Given the description of an element on the screen output the (x, y) to click on. 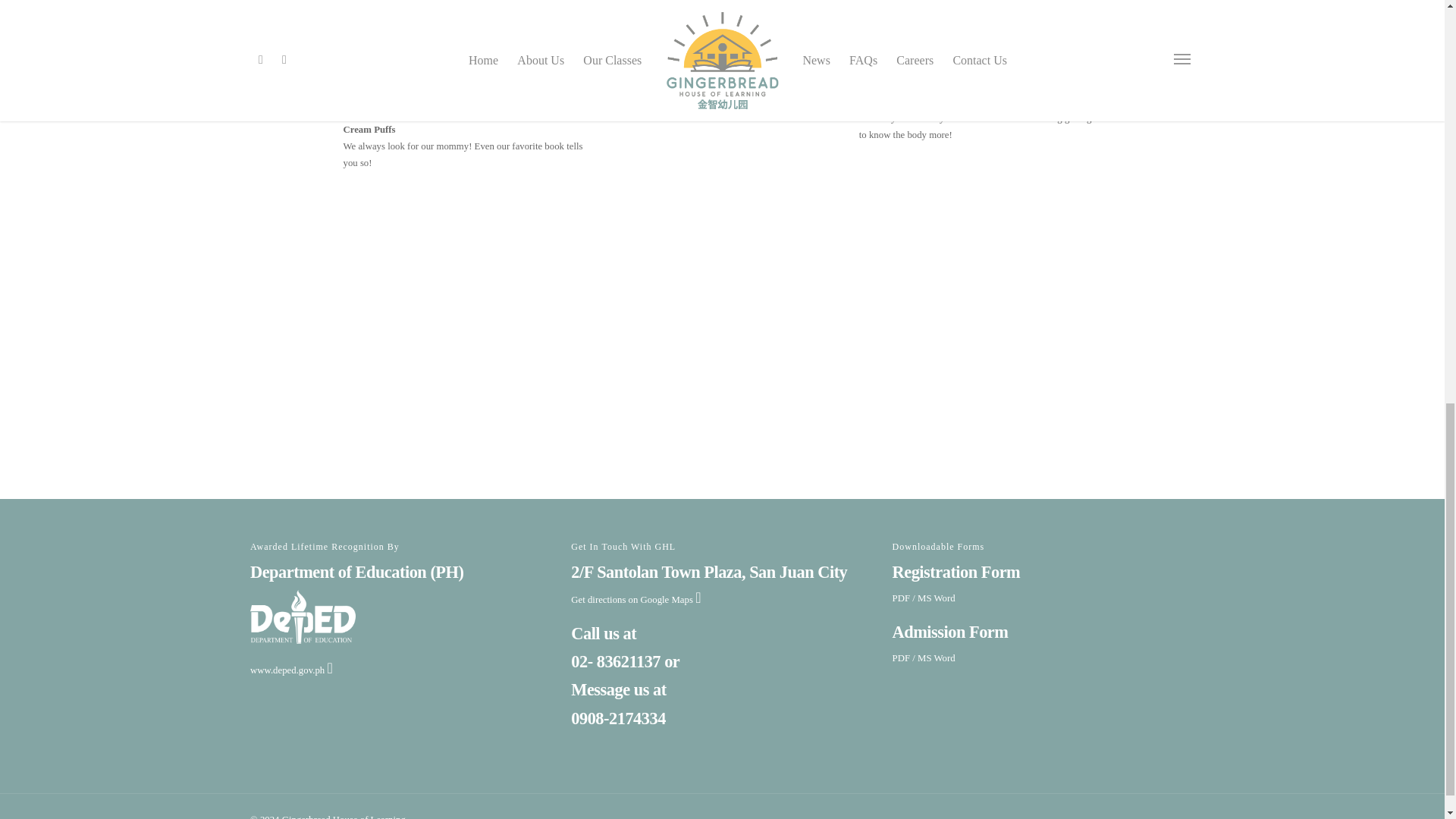
MS Word (936, 597)
MS Word (936, 657)
PDF (901, 597)
PDF (901, 657)
